Given the description of an element on the screen output the (x, y) to click on. 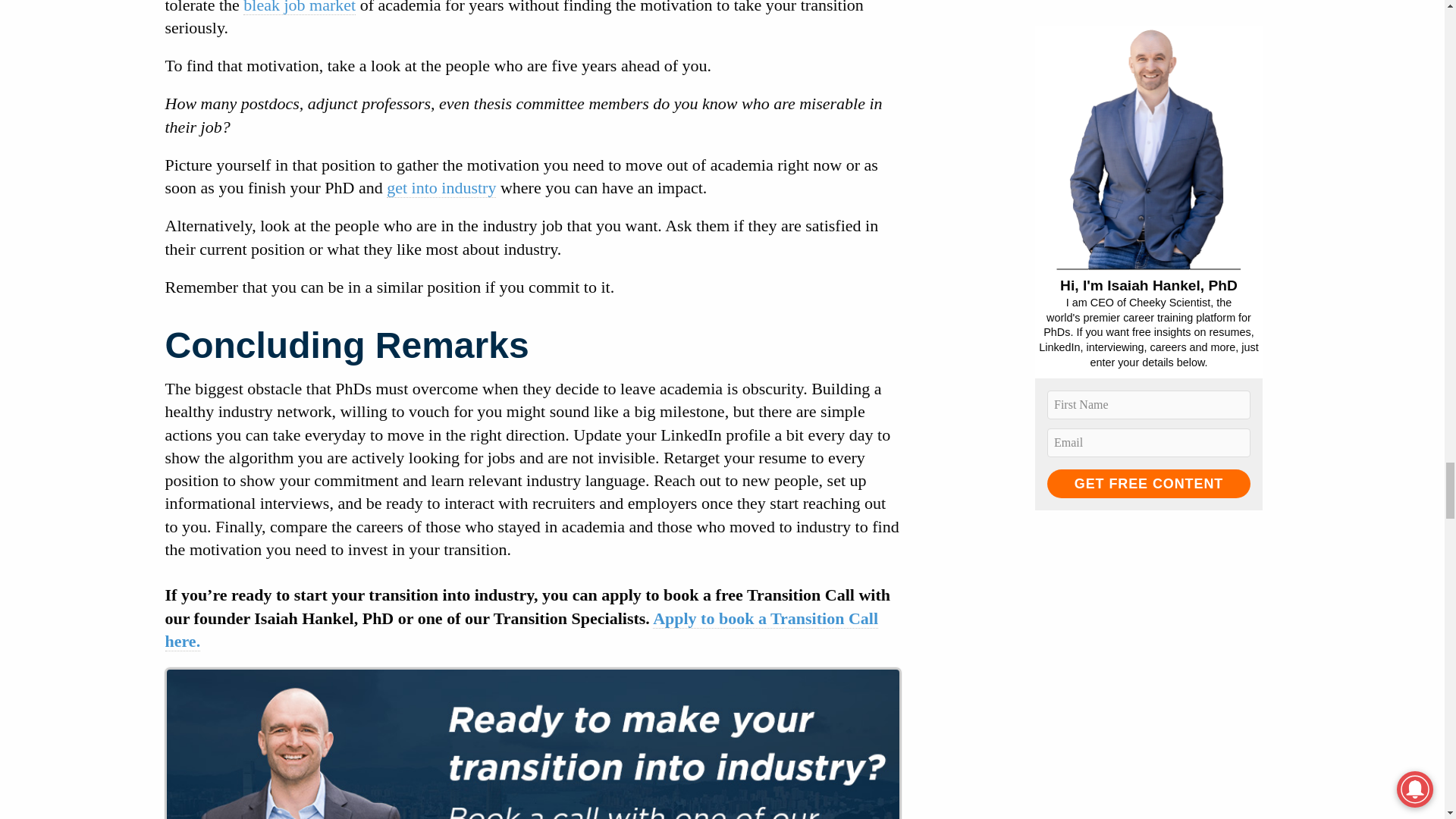
bleak job market (299, 7)
Apply to book a Transition Call here. (522, 630)
get into industry (441, 188)
Book a Transition Call (533, 744)
